Given the description of an element on the screen output the (x, y) to click on. 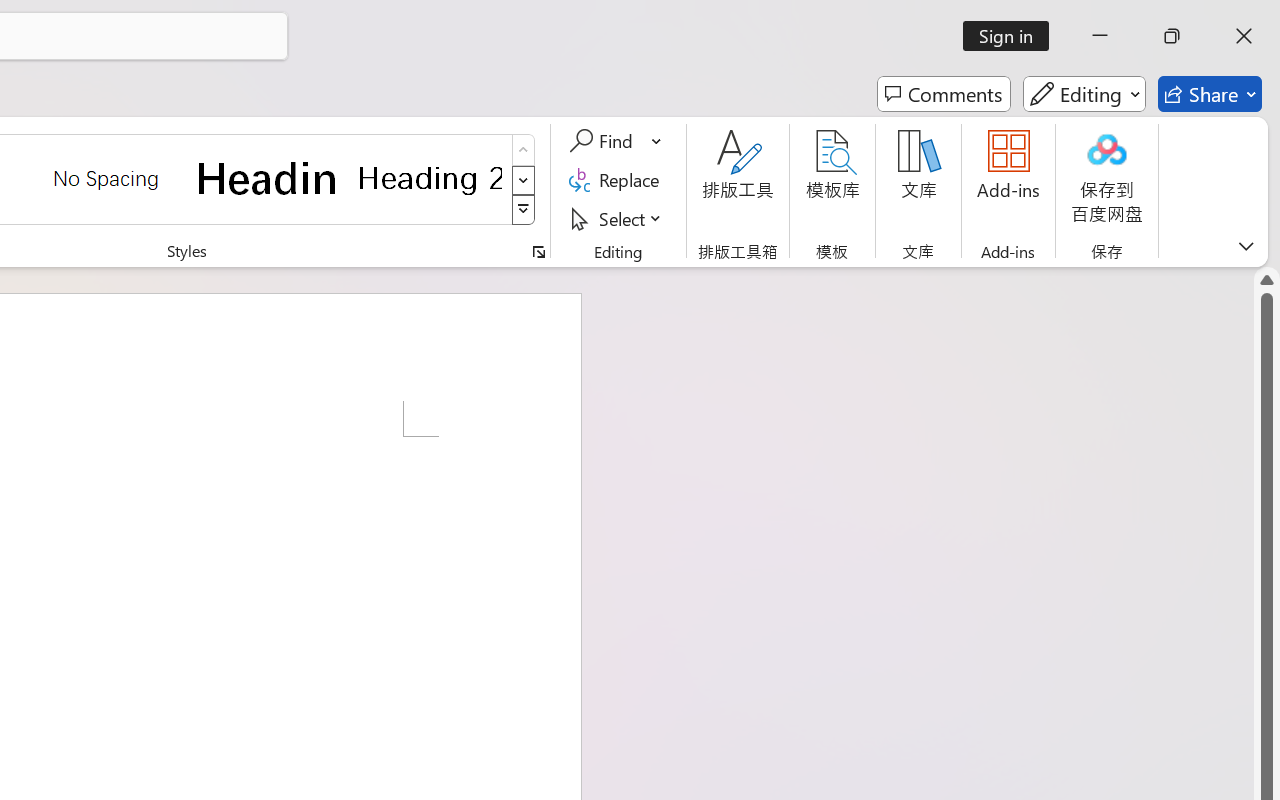
Sign in (1012, 35)
